Given the description of an element on the screen output the (x, y) to click on. 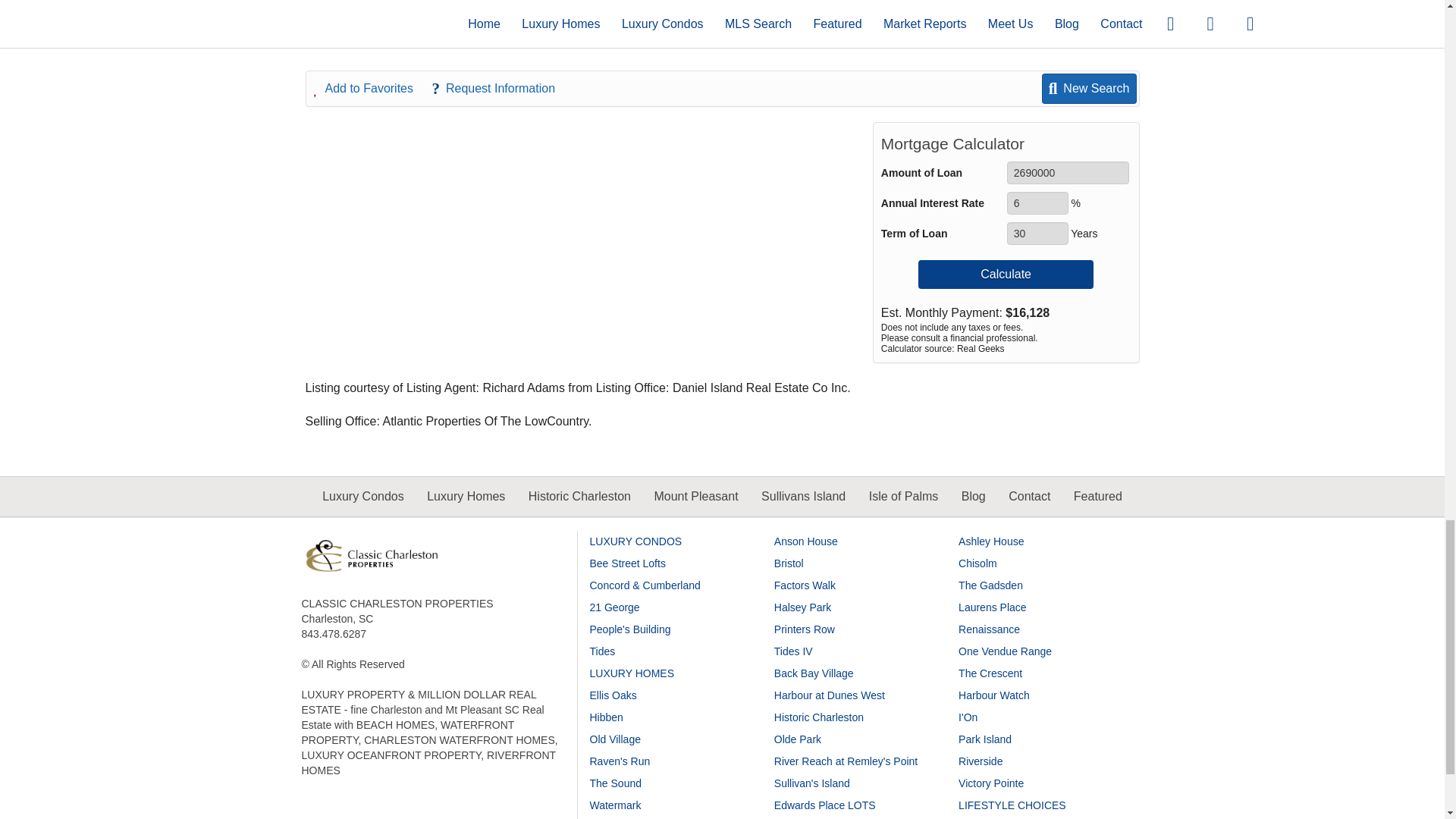
2690000 (1068, 172)
6 (1037, 202)
30 (1037, 232)
